Given the description of an element on the screen output the (x, y) to click on. 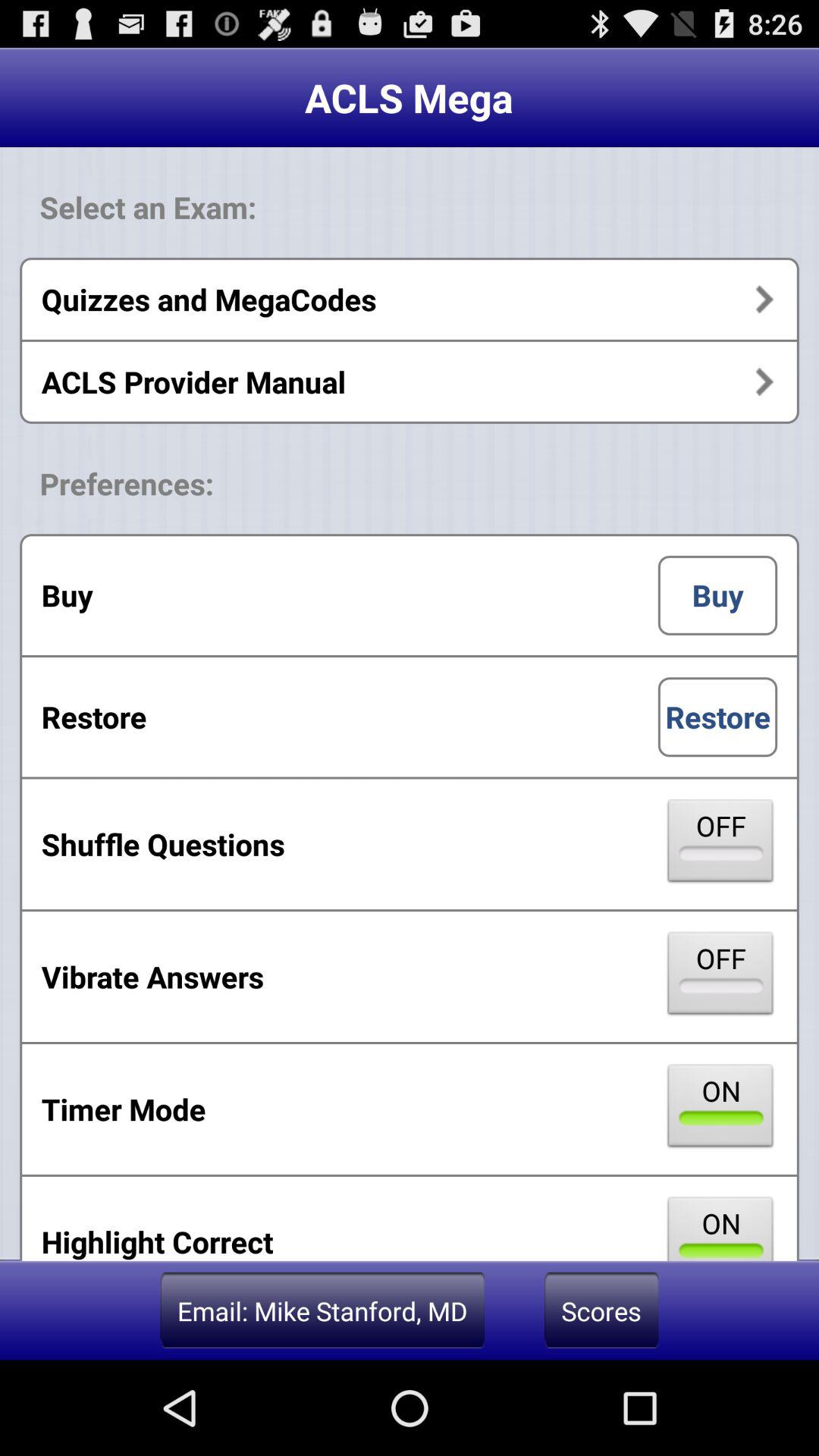
jump to the acls provider manual app (409, 381)
